Given the description of an element on the screen output the (x, y) to click on. 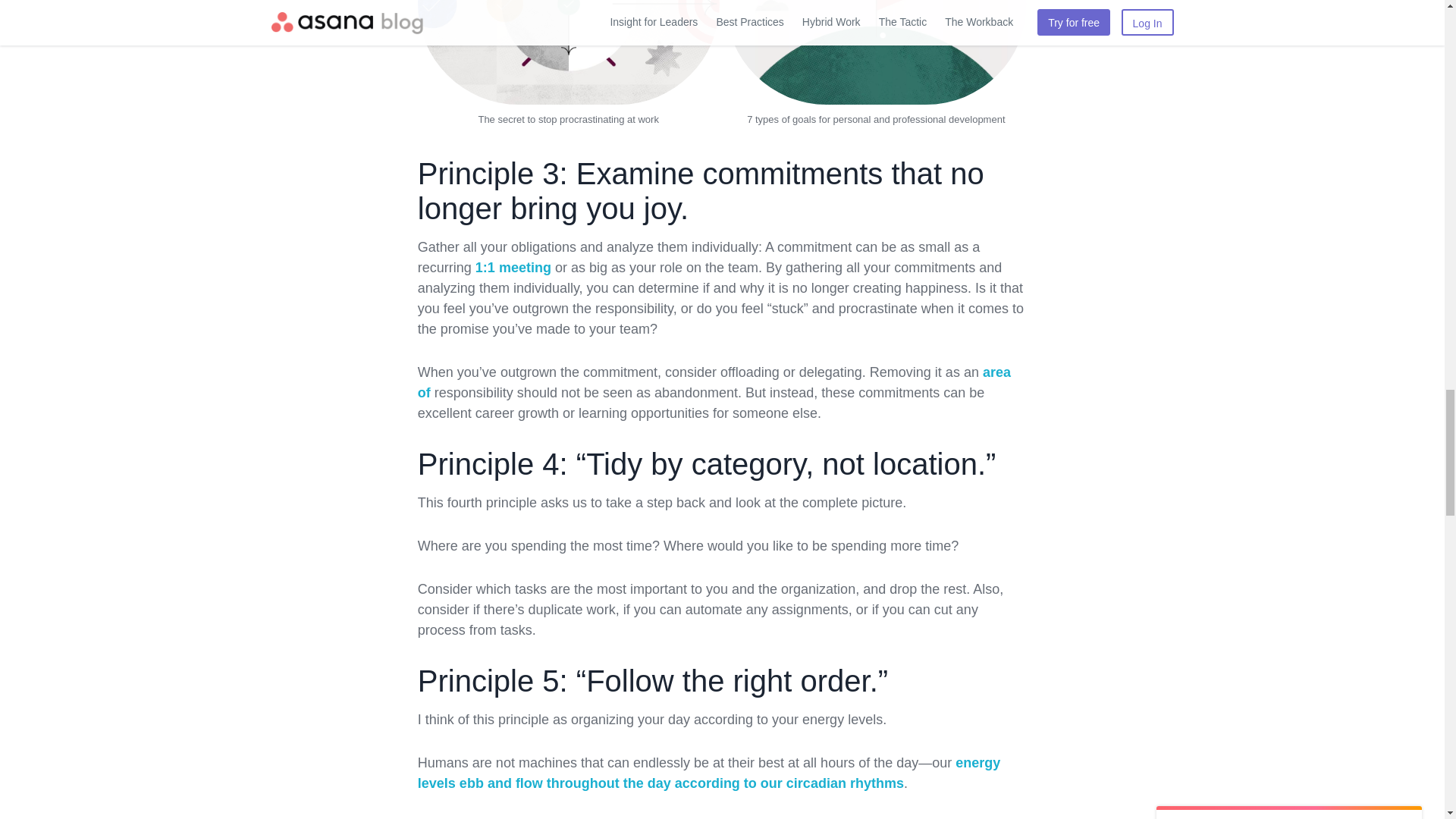
area of (713, 382)
The secret to stop procrastinating at work (567, 119)
1:1 meeting (513, 267)
7 types of goals for personal and professional development (875, 119)
